Given the description of an element on the screen output the (x, y) to click on. 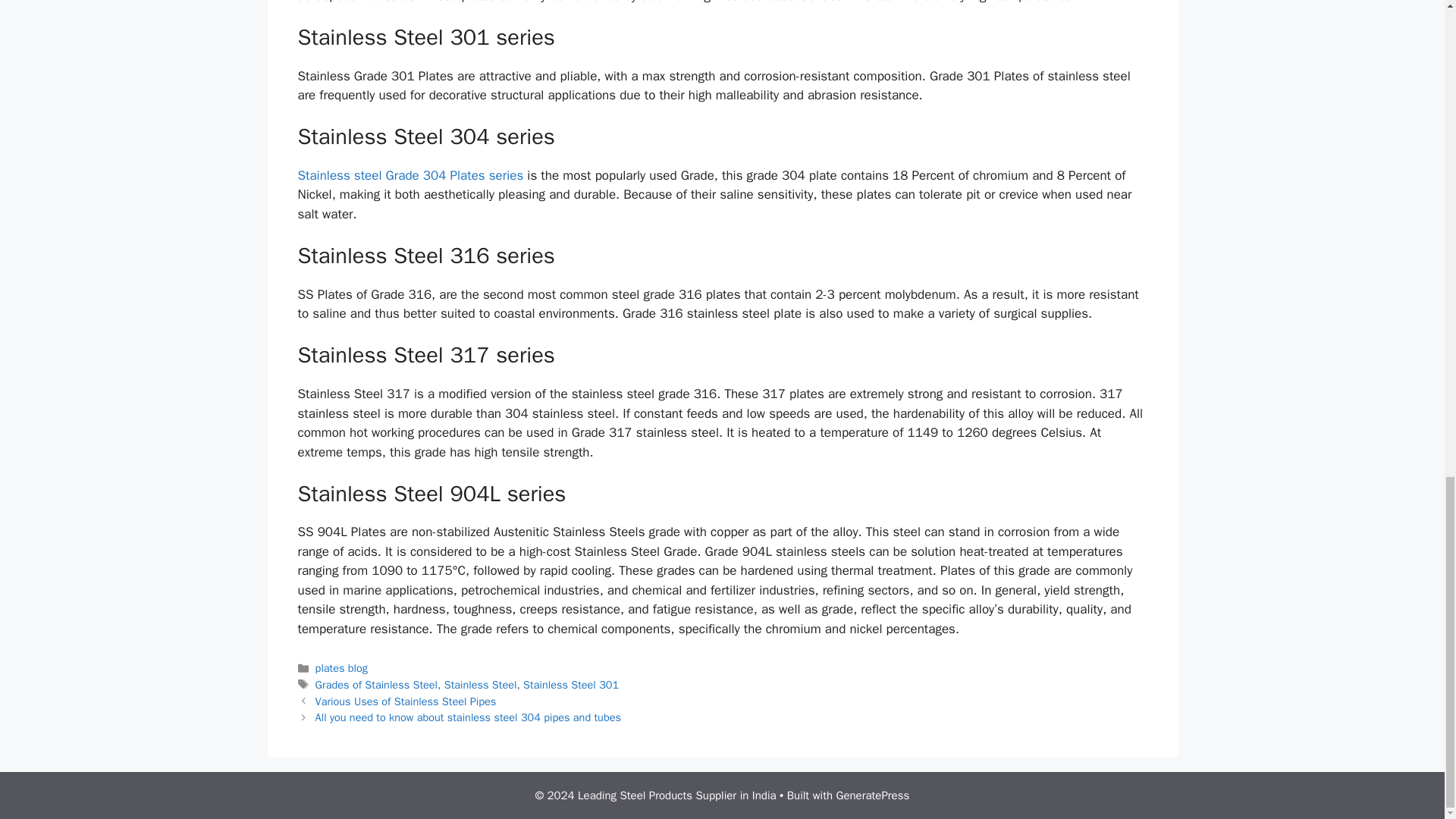
Previous (405, 701)
Grades of Stainless Steel (376, 684)
Stainless Steel (480, 684)
Stainless Steel 301 (570, 684)
plates blog (341, 667)
Next (468, 716)
Various Uses of Stainless Steel Pipes (405, 701)
GeneratePress (872, 795)
Stainless steel Grade 304 Plates series (409, 175)
